Given the description of an element on the screen output the (x, y) to click on. 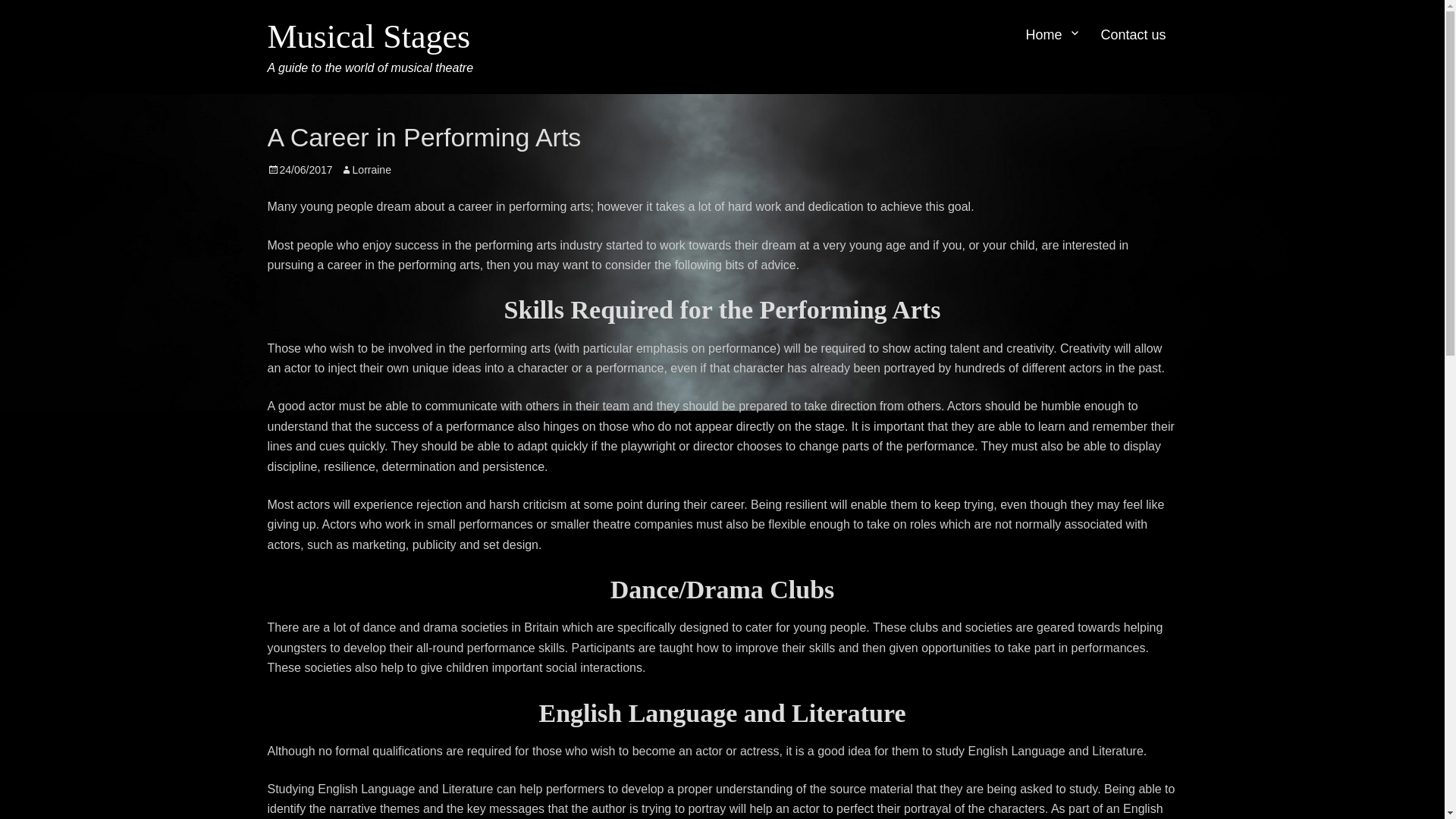
Lorraine (365, 169)
Home (1051, 35)
Musical Stages (368, 36)
Contact us (1132, 35)
